Given the description of an element on the screen output the (x, y) to click on. 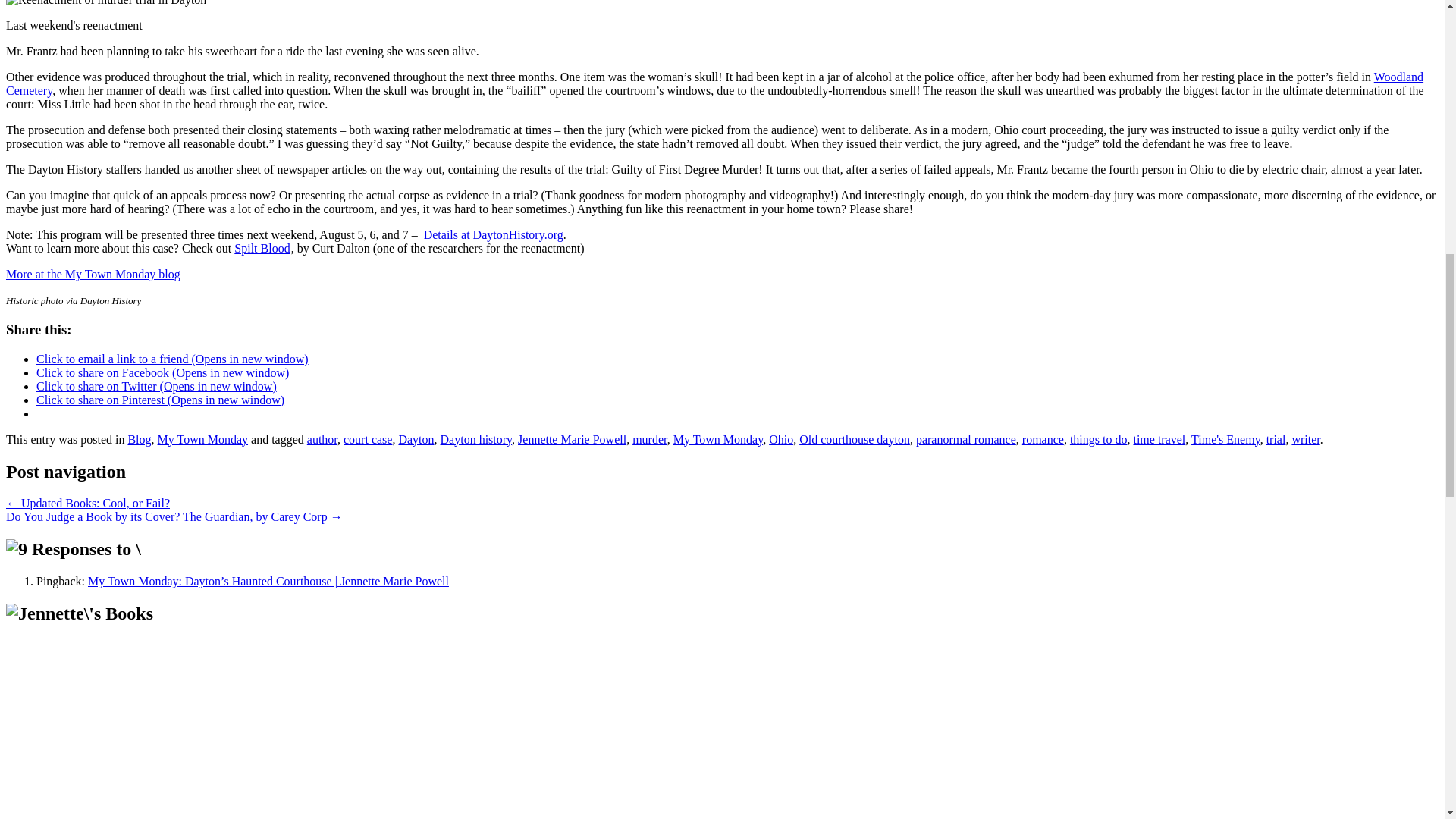
time travel (1158, 439)
romance (1043, 439)
murder (648, 439)
Reenactment of murder trial in Dayton (105, 3)
Details at DaytonHistory.org (493, 234)
Ohio (780, 439)
My Town Monday (717, 439)
My Town Monday (202, 439)
Jennette Marie Powell (572, 439)
Dayton history (476, 439)
